Given the description of an element on the screen output the (x, y) to click on. 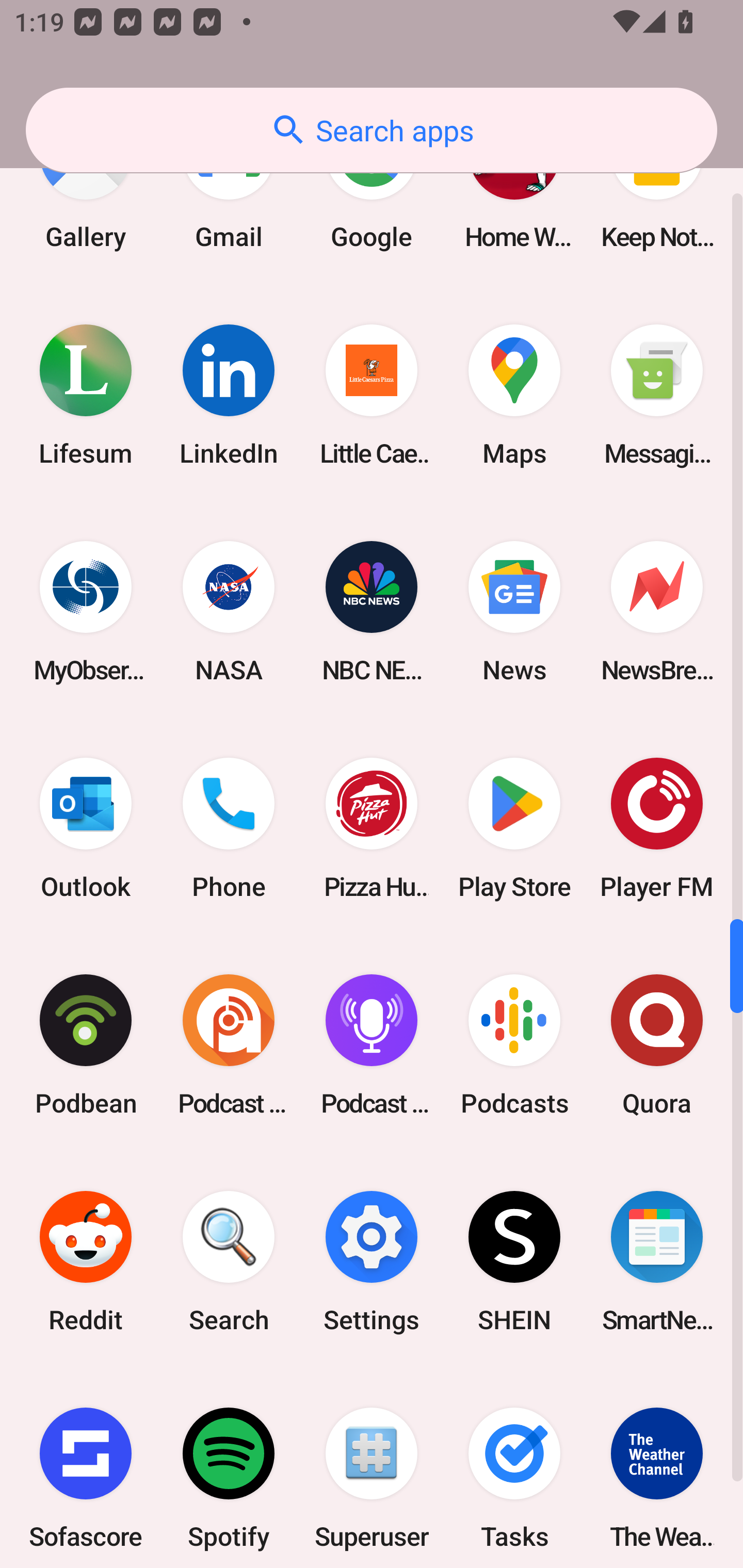
  Search apps (371, 130)
Lifesum (85, 394)
LinkedIn (228, 394)
Little Caesars Pizza (371, 394)
Maps (514, 394)
Messaging (656, 394)
MyObservatory (85, 611)
NASA (228, 611)
NBC NEWS (371, 611)
News (514, 611)
NewsBreak (656, 611)
Outlook (85, 827)
Phone (228, 827)
Pizza Hut HK & Macau (371, 827)
Play Store (514, 827)
Player FM (656, 827)
Podbean (85, 1045)
Podcast Addict (228, 1045)
Podcast Player (371, 1045)
Podcasts (514, 1045)
Quora (656, 1045)
Reddit (85, 1262)
Search (228, 1262)
Settings (371, 1262)
SHEIN (514, 1262)
SmartNews (656, 1262)
Sofascore (85, 1469)
Spotify (228, 1469)
Superuser (371, 1469)
Tasks (514, 1469)
The Weather Channel (656, 1469)
